Given the description of an element on the screen output the (x, y) to click on. 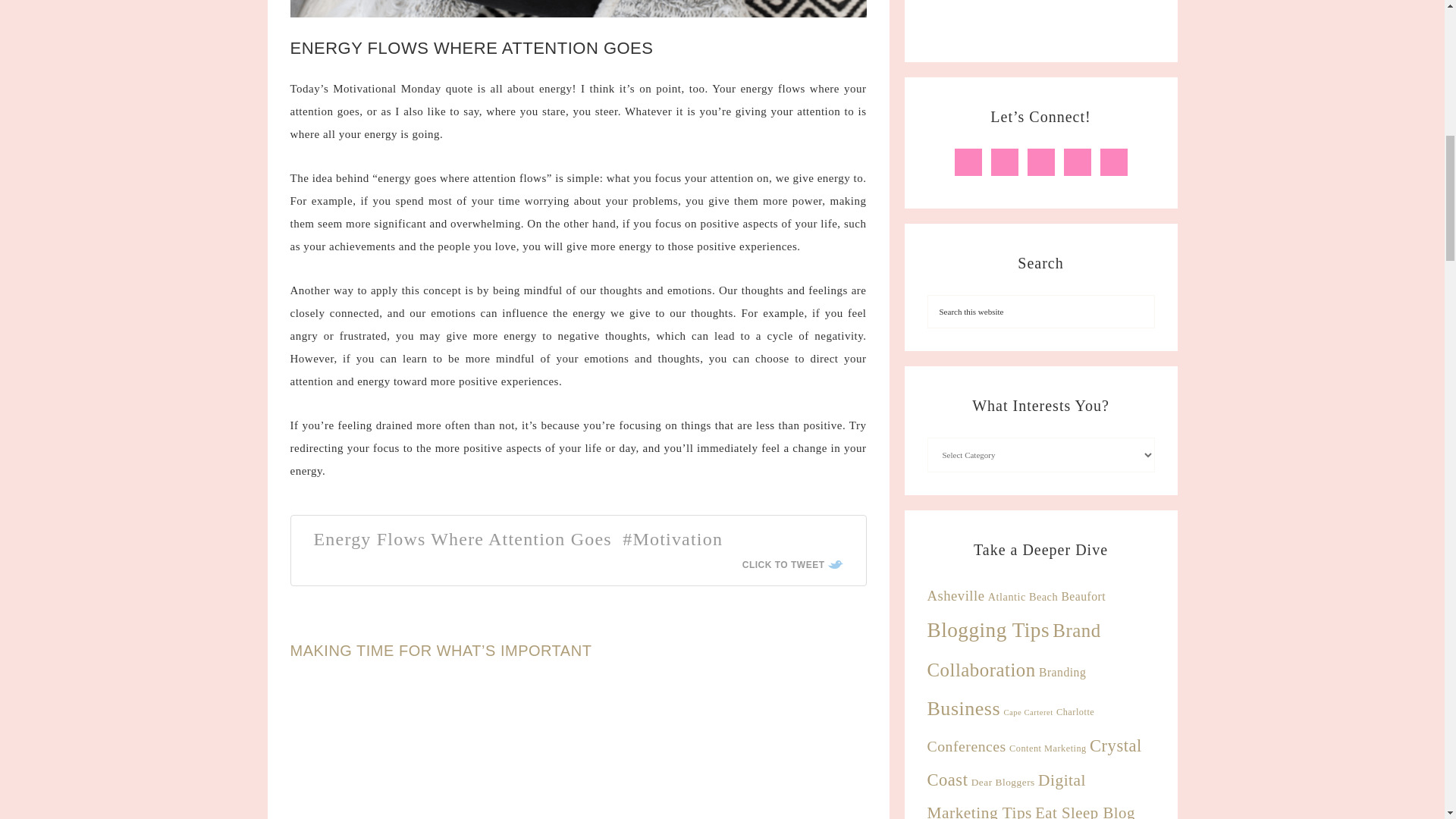
CLICK TO TWEET (792, 564)
